Given the description of an element on the screen output the (x, y) to click on. 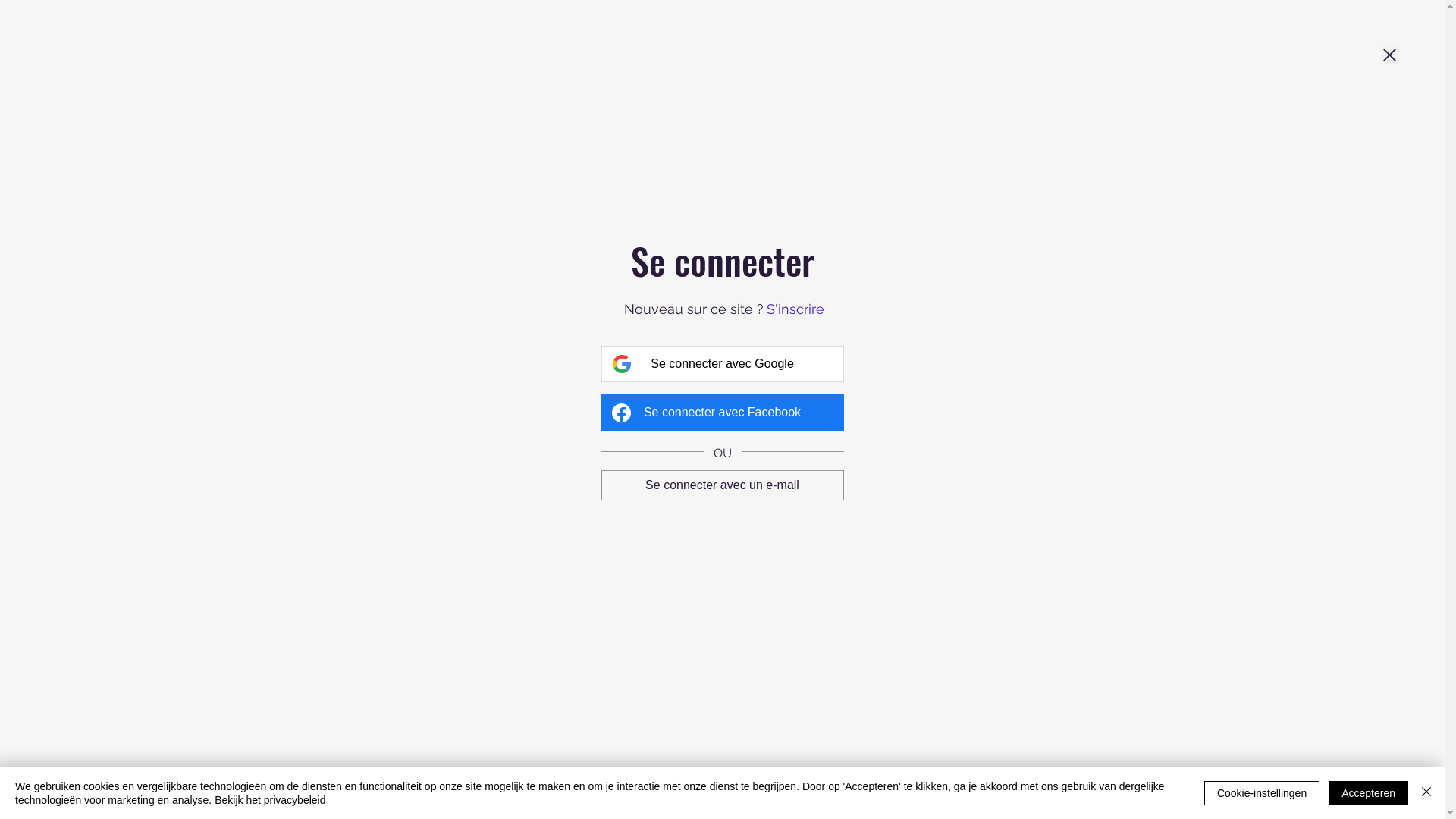
Se connecter avec Facebook Element type: text (721, 412)
Bekijk het privacybeleid Element type: text (269, 799)
Accepteren Element type: text (1368, 793)
Se connecter avec un e-mail Element type: text (721, 485)
Cookie-instellingen Element type: text (1261, 793)
Se connecter avec Google Element type: text (721, 363)
S'inscrire Element type: text (794, 309)
